Given the description of an element on the screen output the (x, y) to click on. 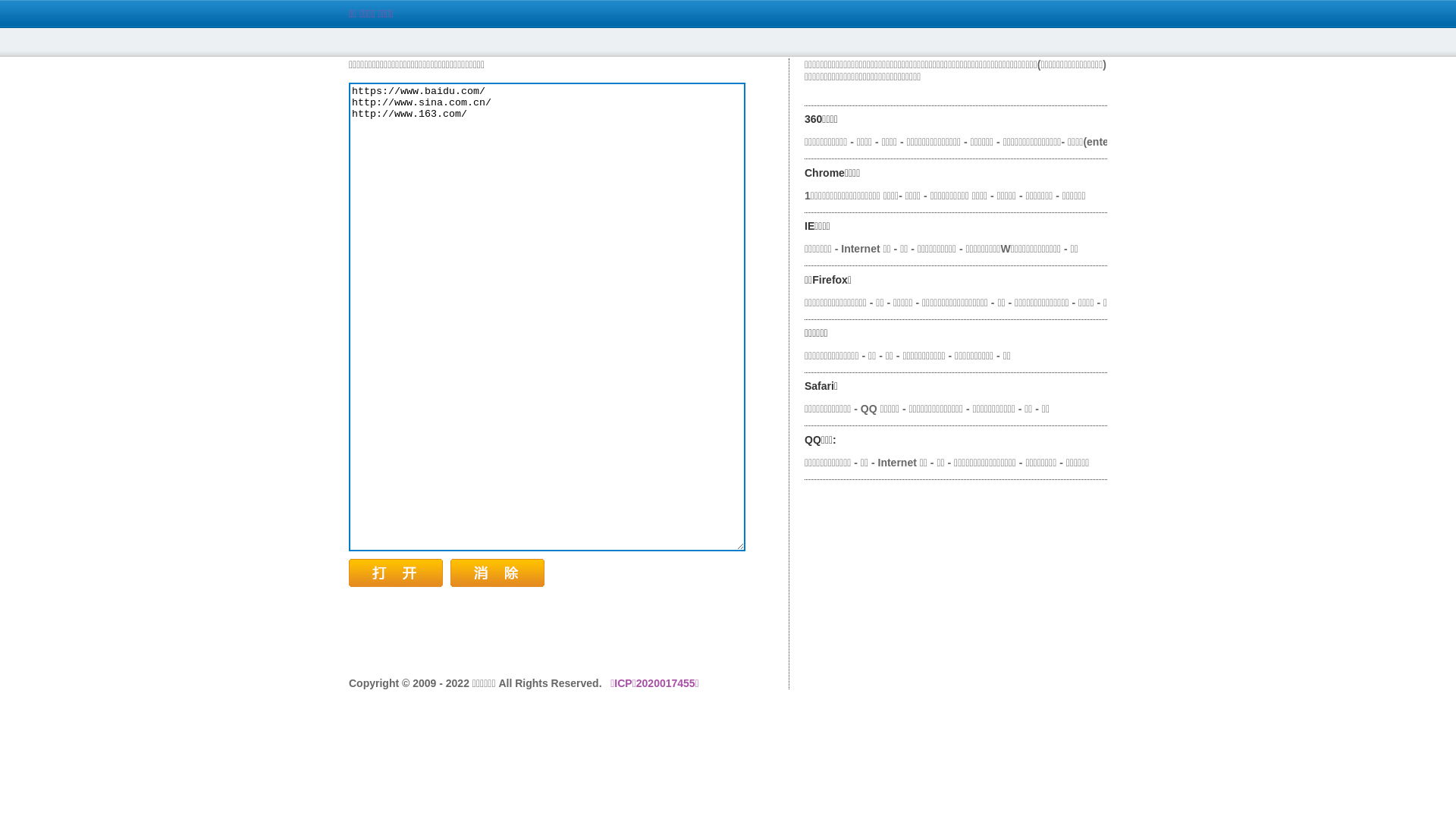
Submit Element type: hover (395, 572)
Clear All Element type: text (497, 572)
